Given the description of an element on the screen output the (x, y) to click on. 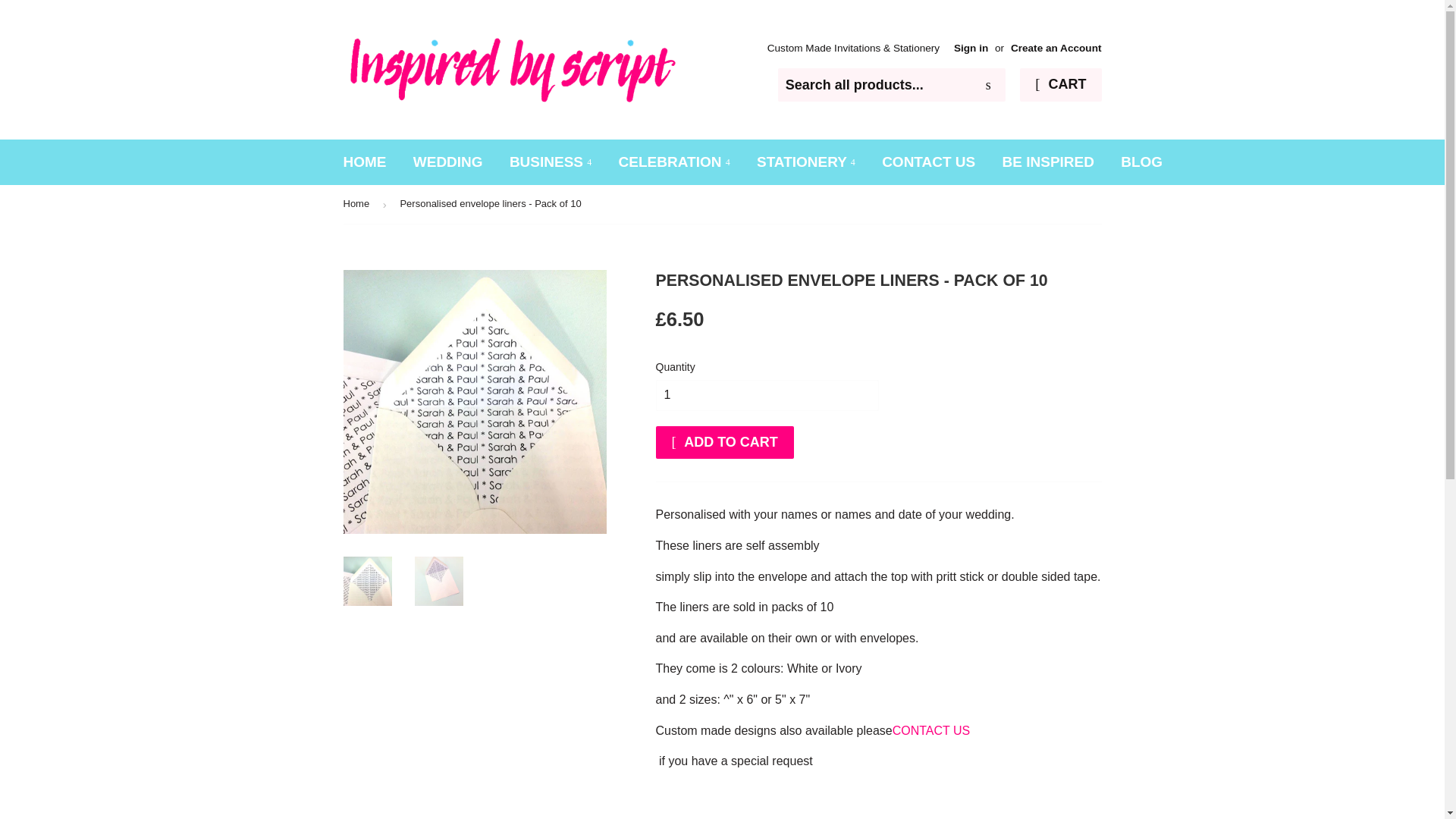
CELEBRATION (674, 162)
STATIONERY (805, 162)
Create an Account (1056, 48)
BUSINESS (549, 162)
1 (766, 395)
HOME (364, 162)
WEDDING (448, 162)
BLOG (1141, 162)
Search (988, 85)
BE INSPIRED (1048, 162)
CONTACT US (928, 162)
Sign in (970, 48)
CART (1060, 84)
